Given the description of an element on the screen output the (x, y) to click on. 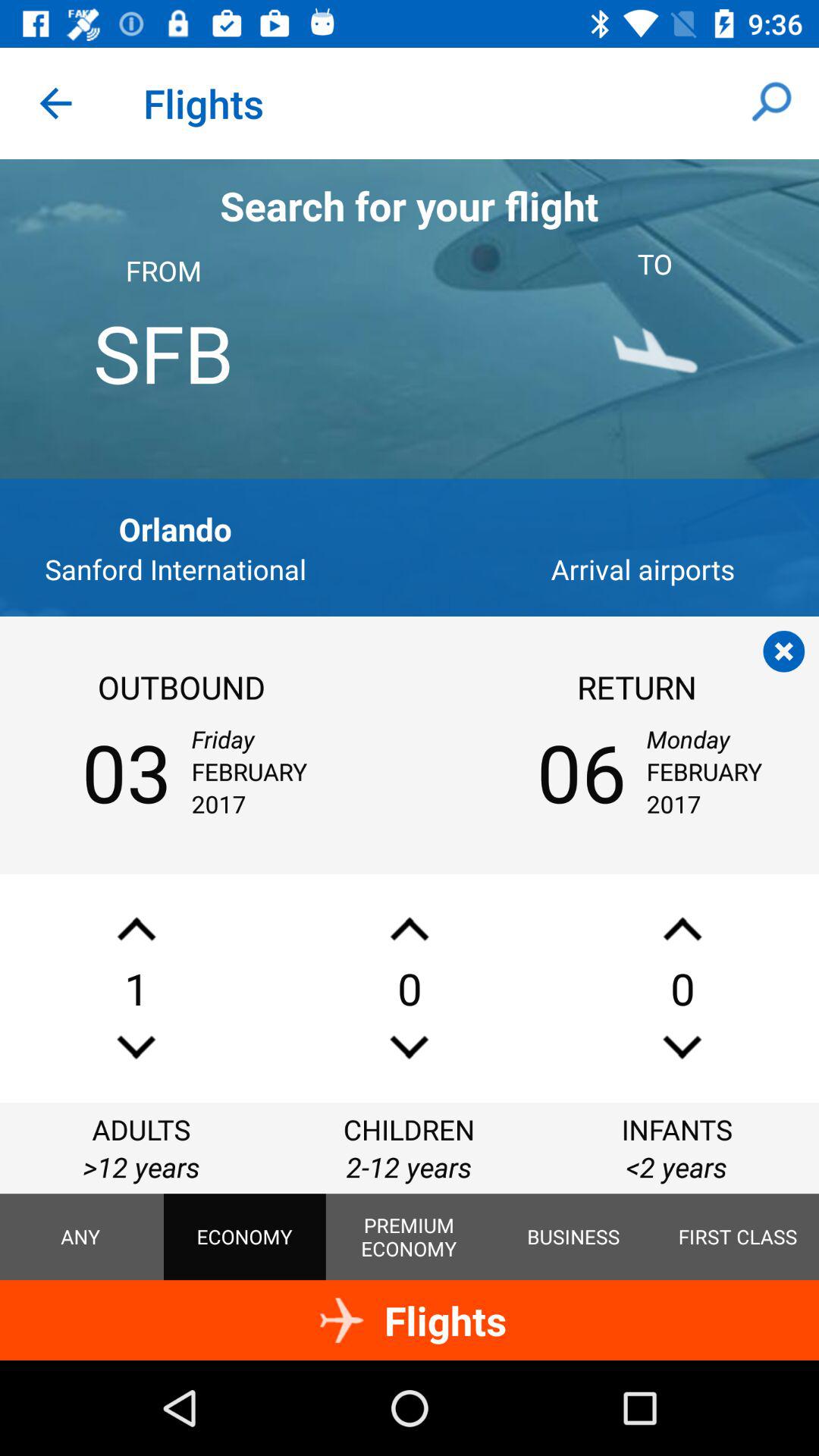
number up (409, 928)
